Given the description of an element on the screen output the (x, y) to click on. 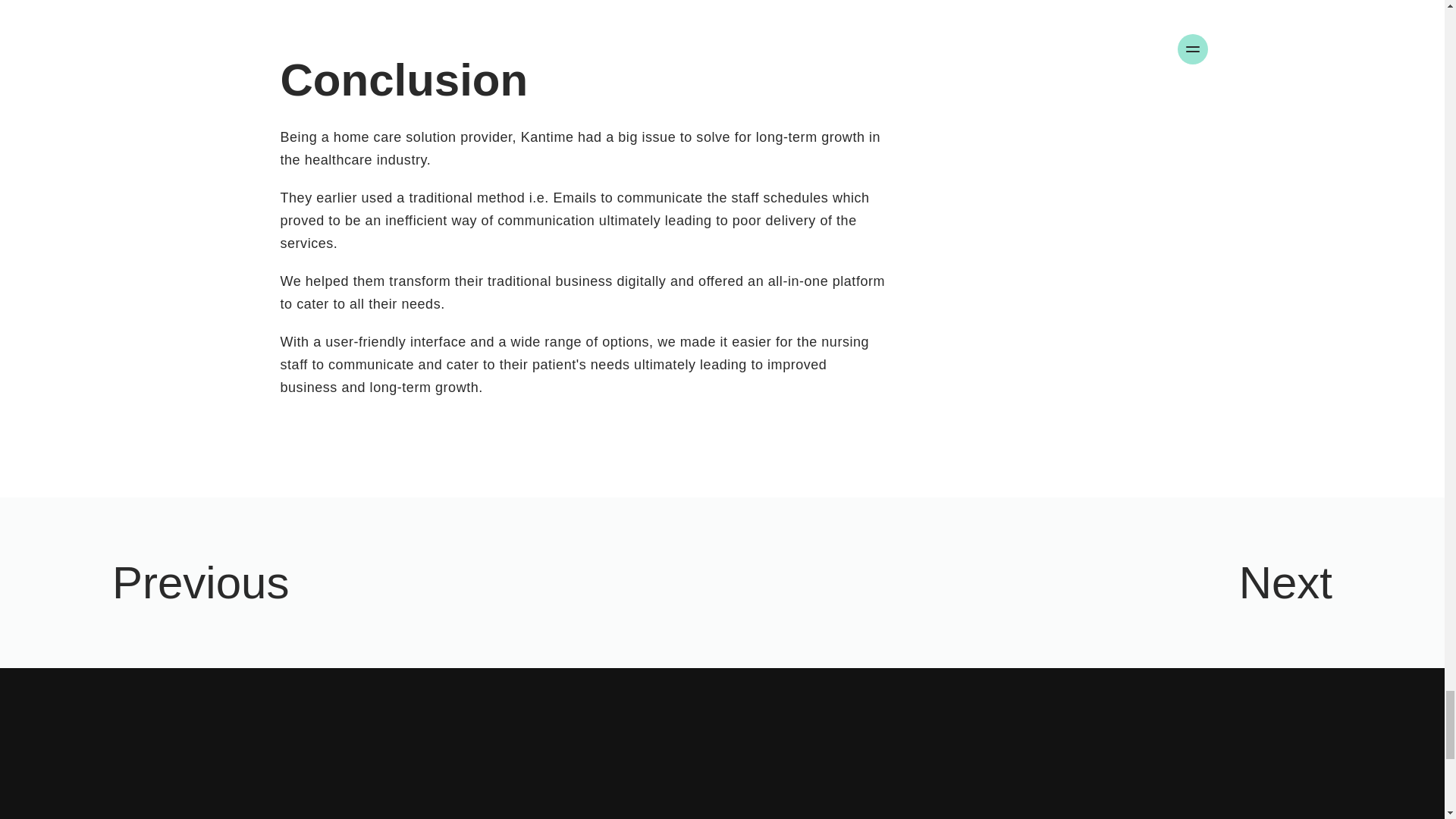
Previous (361, 582)
